Given the description of an element on the screen output the (x, y) to click on. 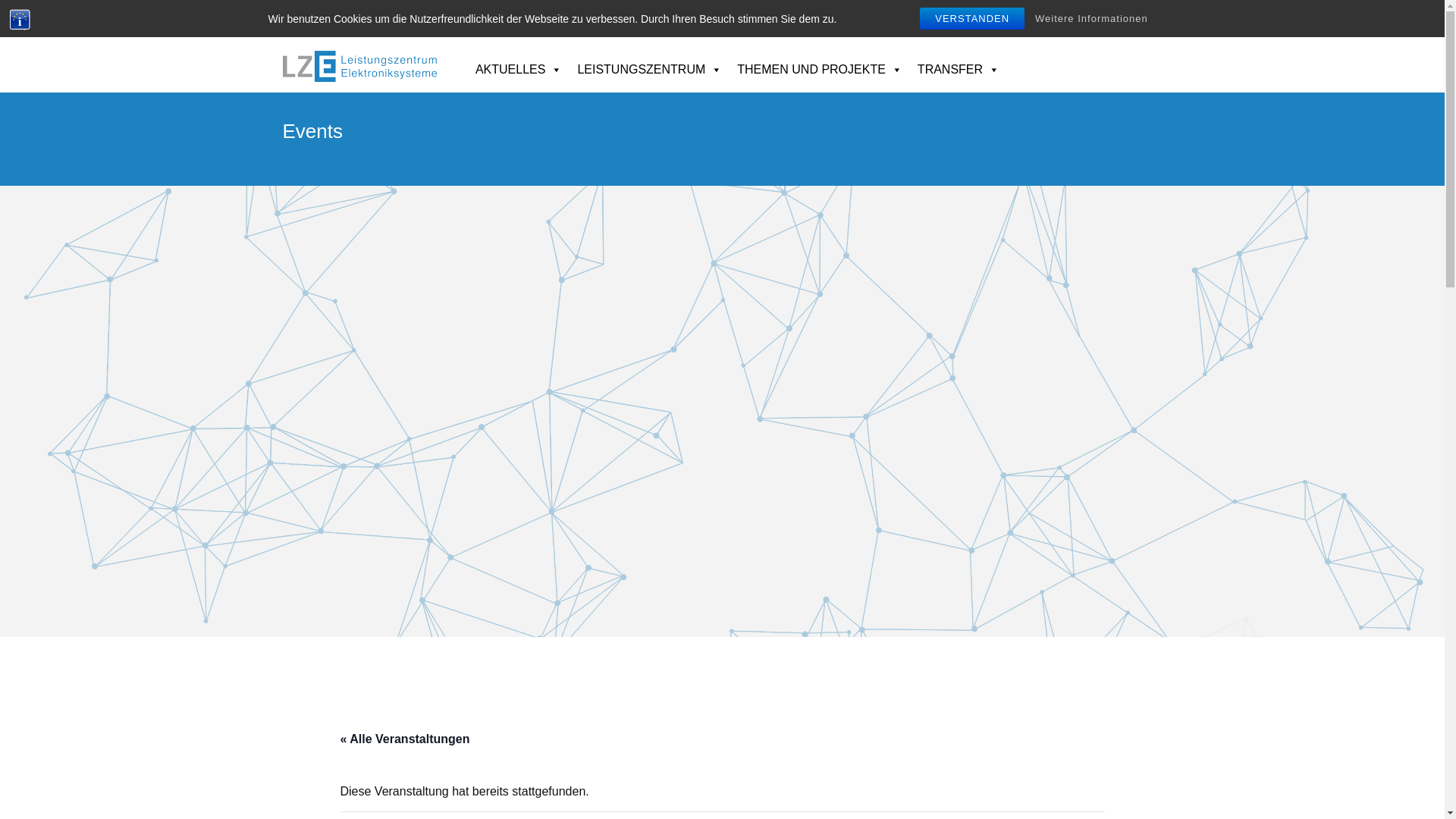
LEISTUNGSZENTRUM Element type: text (649, 61)
TRANSFER Element type: text (958, 61)
Weitere Informationen Element type: text (1091, 18)
THEMEN UND PROJEKTE Element type: text (819, 61)
VERSTANDEN Element type: text (971, 18)
VERSTANDEN Element type: text (971, 18)
English Element type: text (1113, 16)
Kontakt Element type: text (1064, 16)
AKTUELLES Element type: text (518, 61)
160721_LZE_FhG_IIS_WakeUp_6778 Element type: hover (722, 411)
Impressum Element type: text (911, 16)
